Given the description of an element on the screen output the (x, y) to click on. 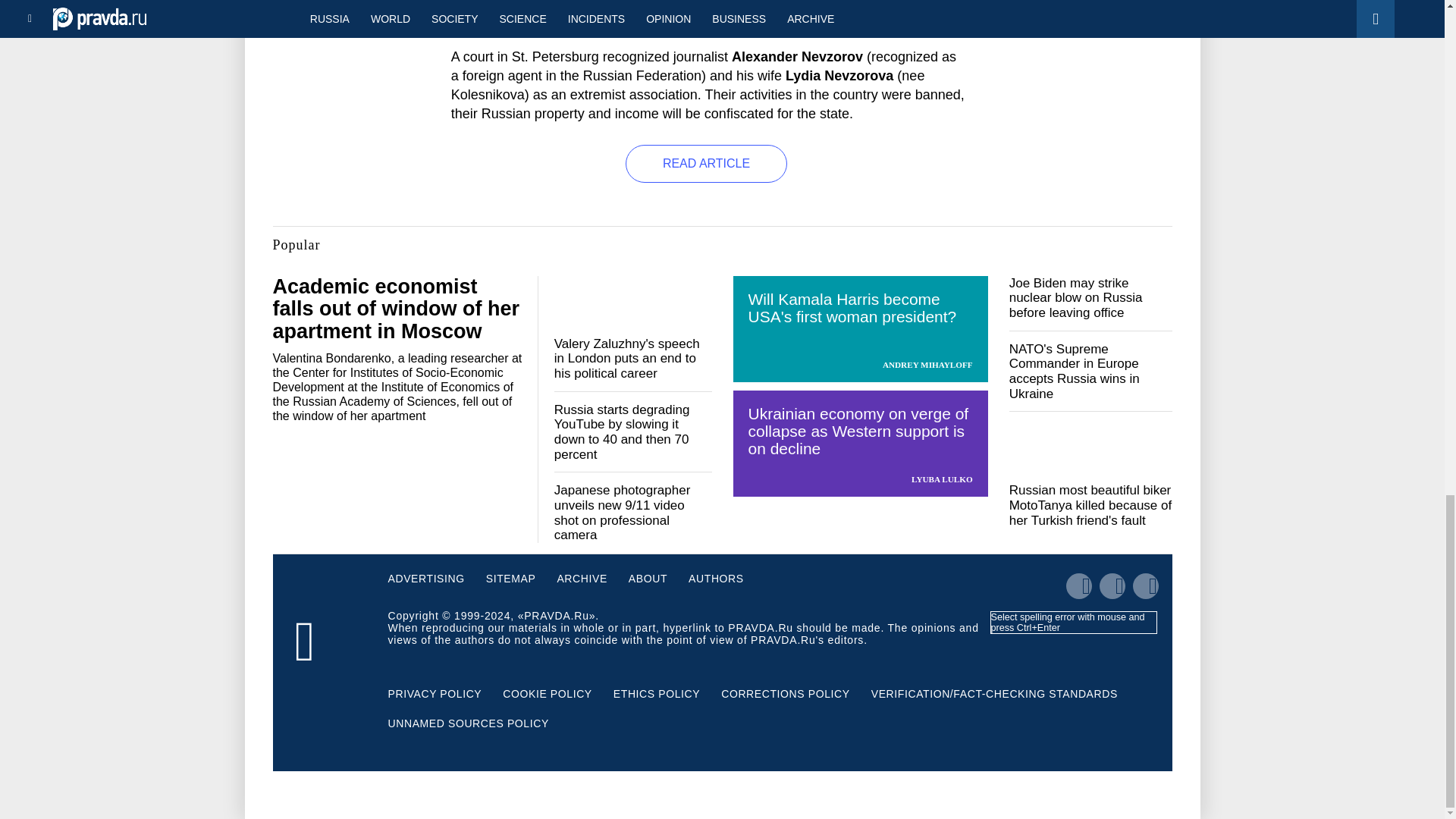
Published (486, 5)
RUSSIA (468, 20)
